Given the description of an element on the screen output the (x, y) to click on. 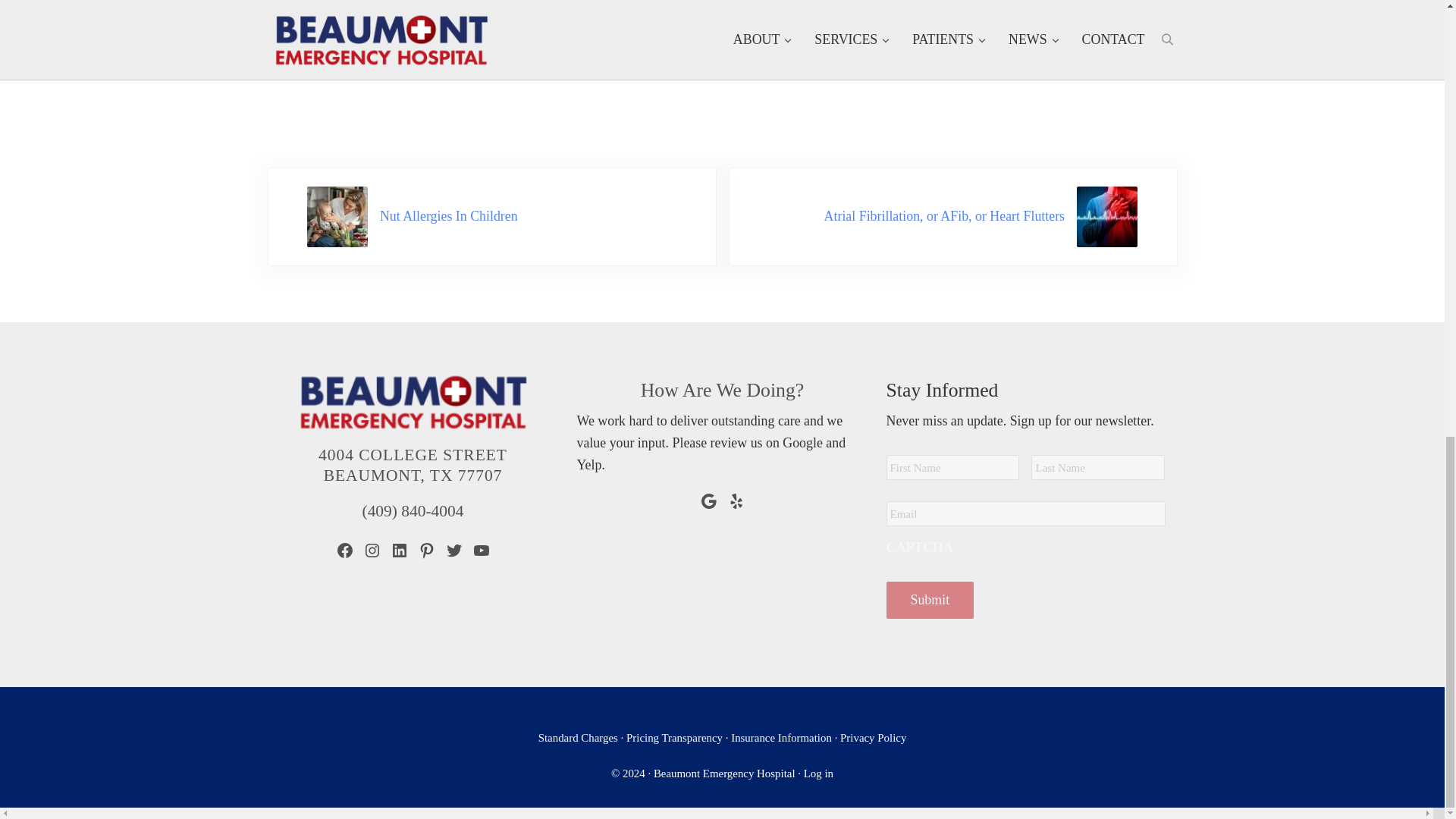
Submit (929, 599)
